Given the description of an element on the screen output the (x, y) to click on. 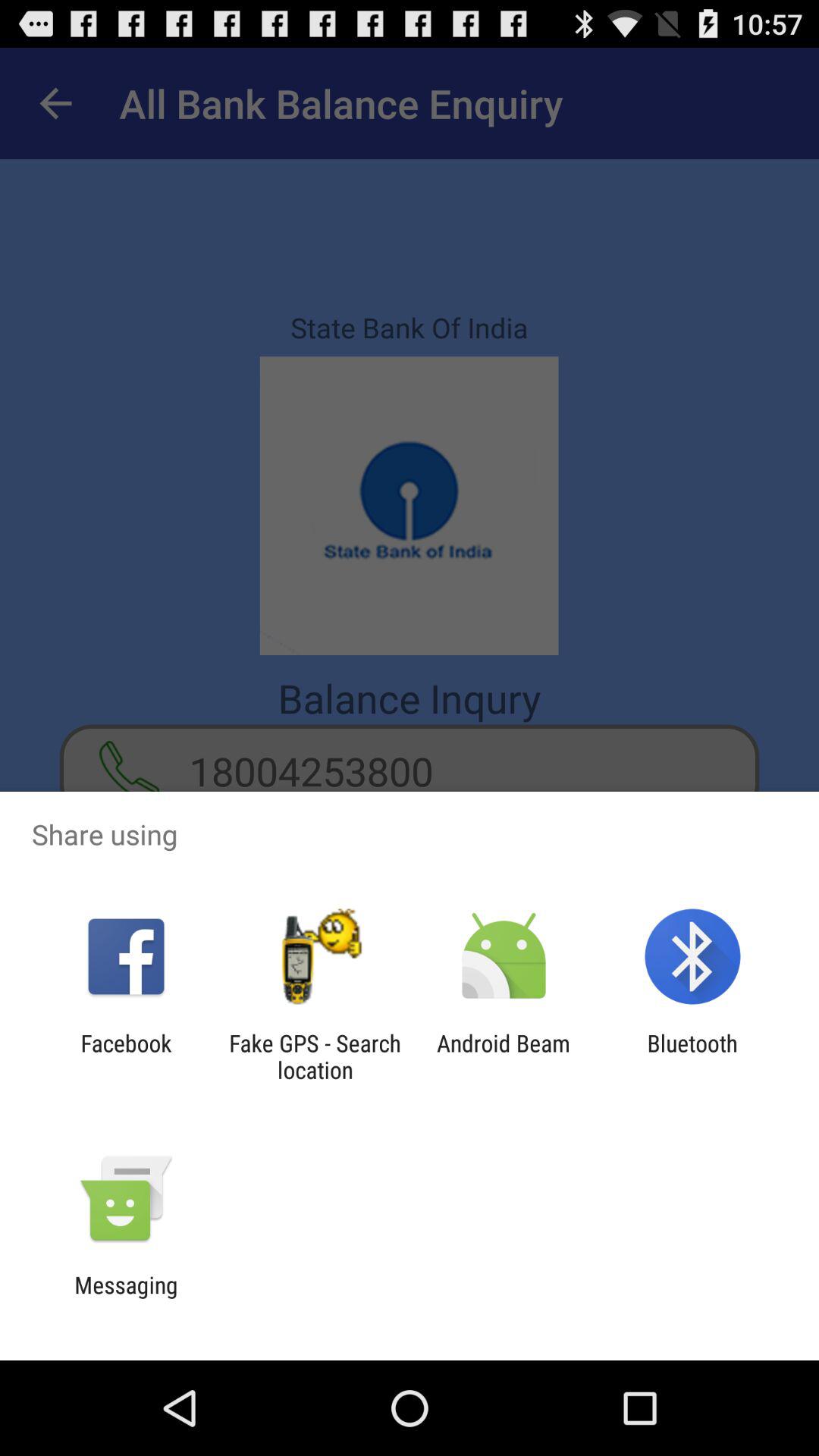
choose icon at the bottom right corner (692, 1056)
